Given the description of an element on the screen output the (x, y) to click on. 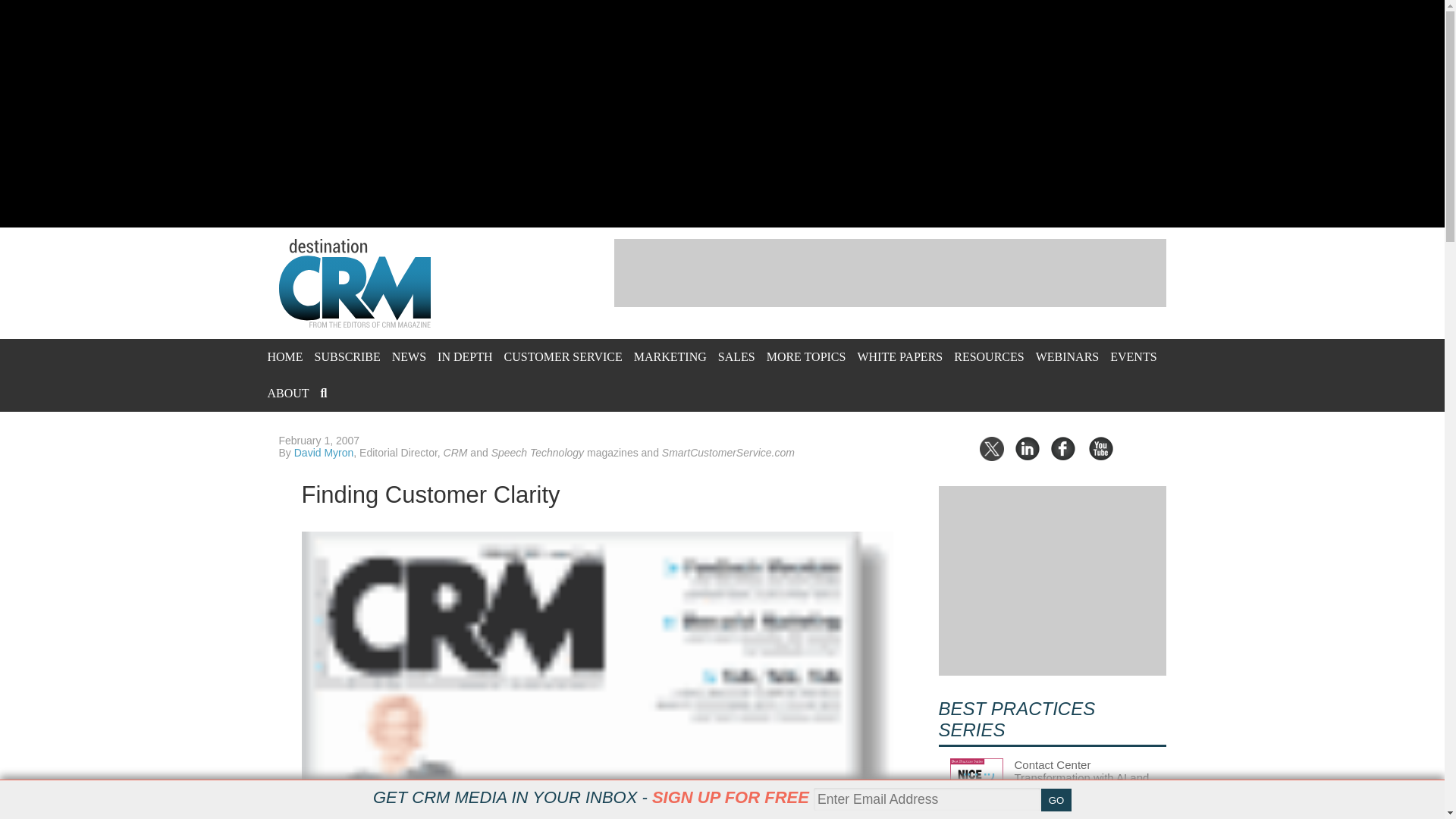
MARKETING (669, 357)
SUBSCRIBE (347, 357)
Marketing (669, 357)
MORE TOPICS (806, 357)
HOME (284, 357)
GET CRM MEDIA IN YOUR INBOX - SIGN UP FOR FREE (590, 797)
SALES (736, 357)
CUSTOMER SERVICE (563, 357)
RESOURCES (988, 357)
IN DEPTH (465, 357)
WHITE PAPERS (899, 357)
Customer Service (563, 357)
Sales (736, 357)
3rd party ad content (890, 273)
